Given the description of an element on the screen output the (x, y) to click on. 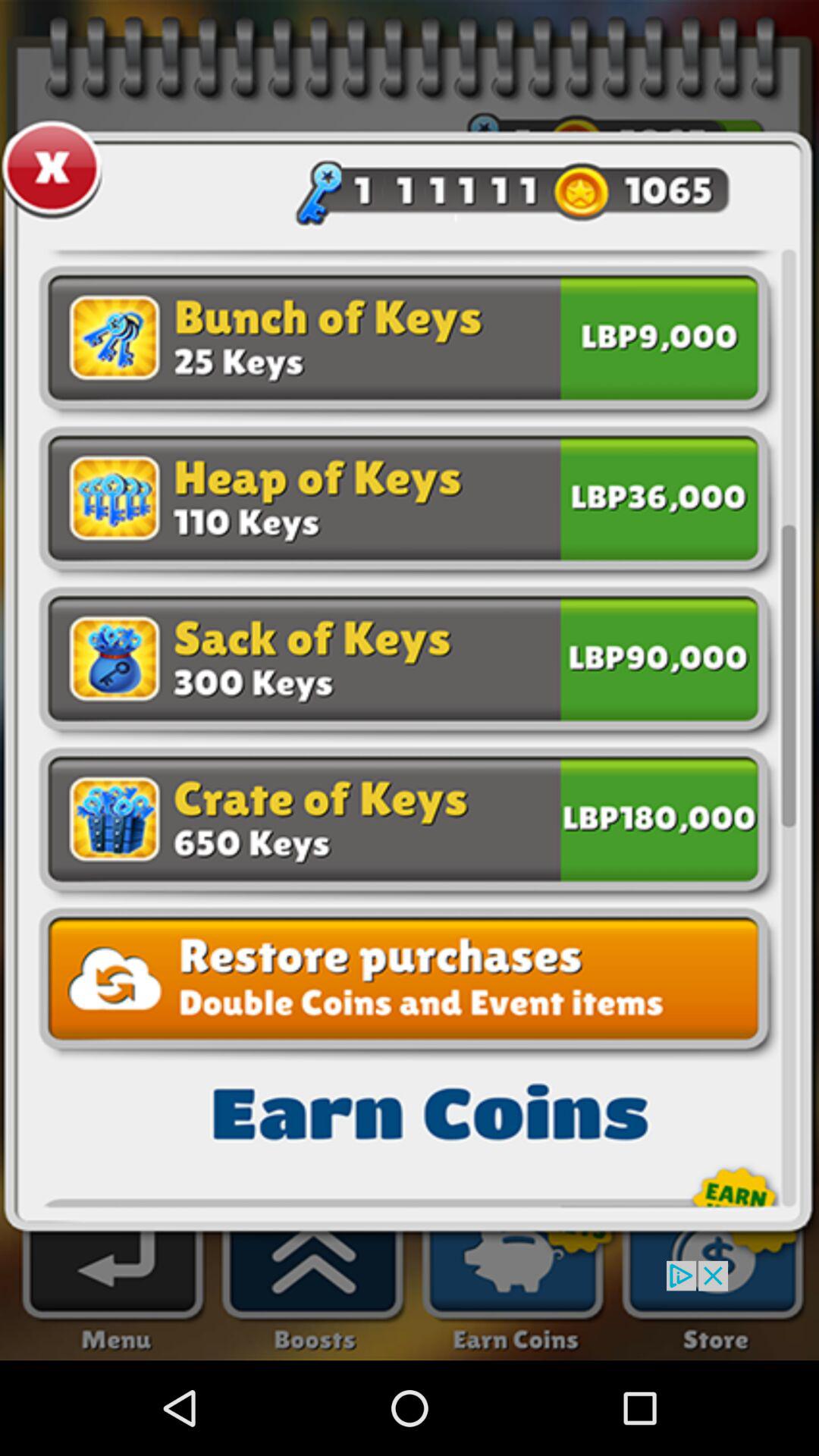
purchase coins (659, 495)
